Given the description of an element on the screen output the (x, y) to click on. 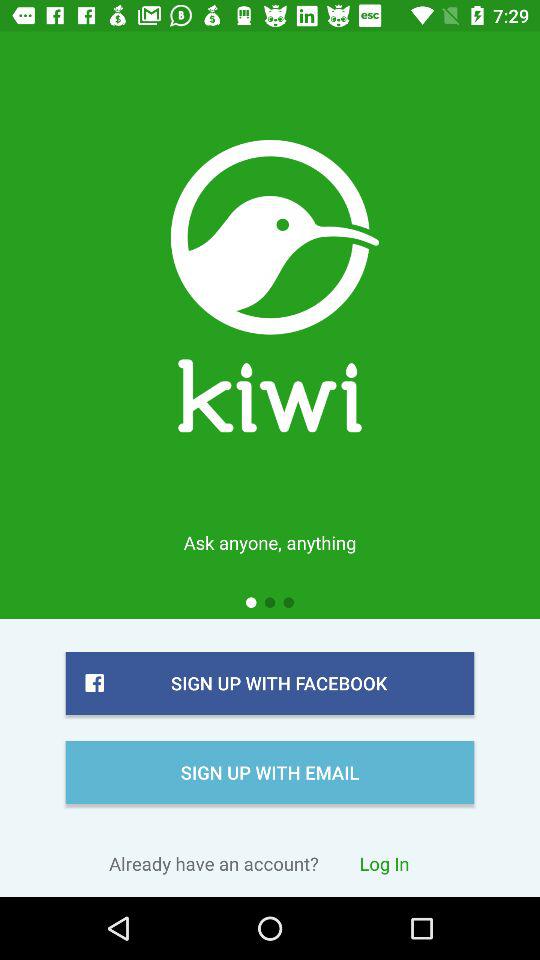
select log in (384, 863)
